Given the description of an element on the screen output the (x, y) to click on. 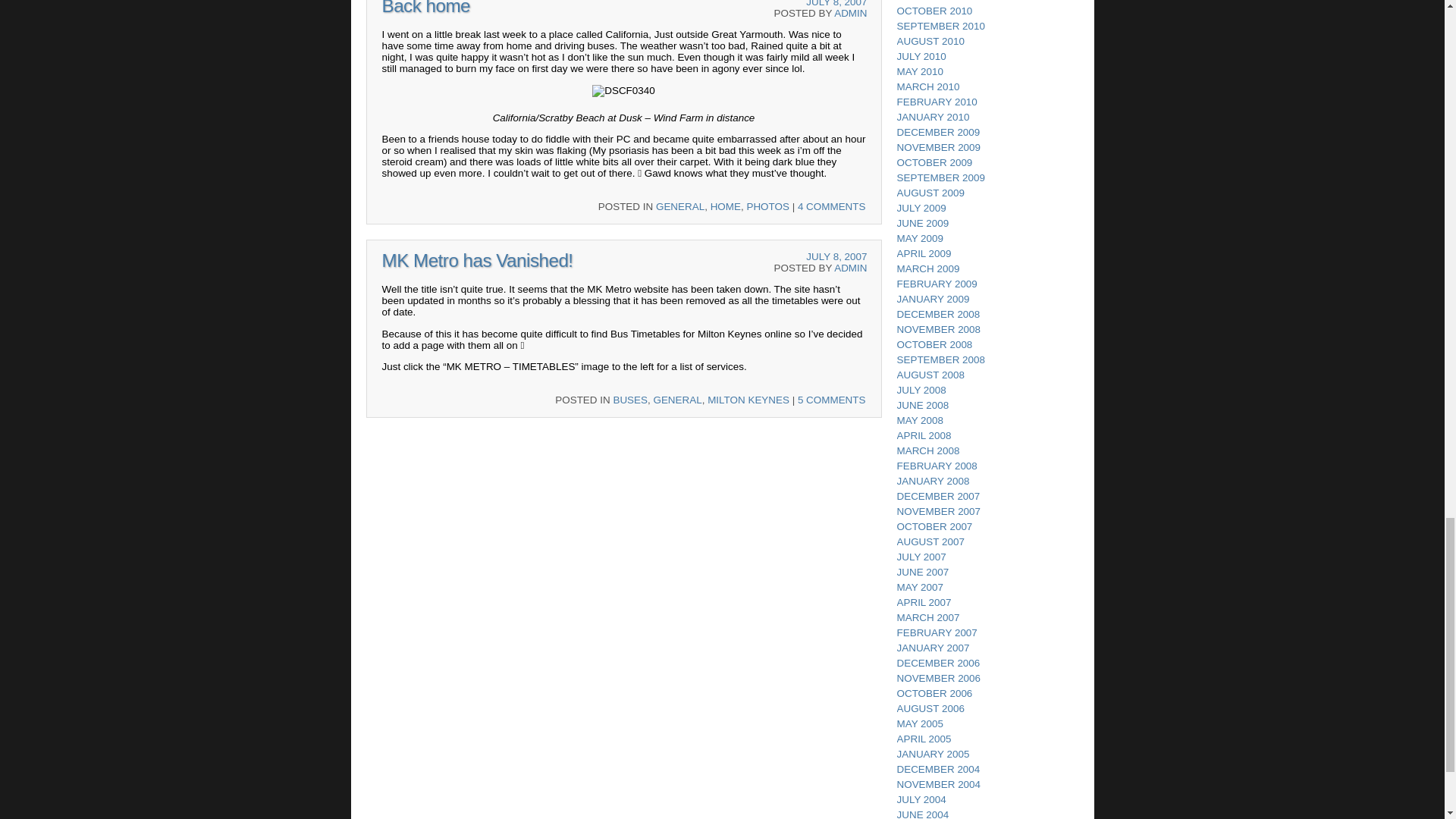
JULY 8, 2007 (836, 3)
GENERAL (676, 399)
PHOTOS (767, 206)
4 COMMENTS (831, 206)
Permalink to Back home (425, 7)
BUSES (629, 399)
MILTON KEYNES (748, 399)
View all posts by admin (850, 267)
JULY 8, 2007 (836, 256)
HOME (725, 206)
